Given the description of an element on the screen output the (x, y) to click on. 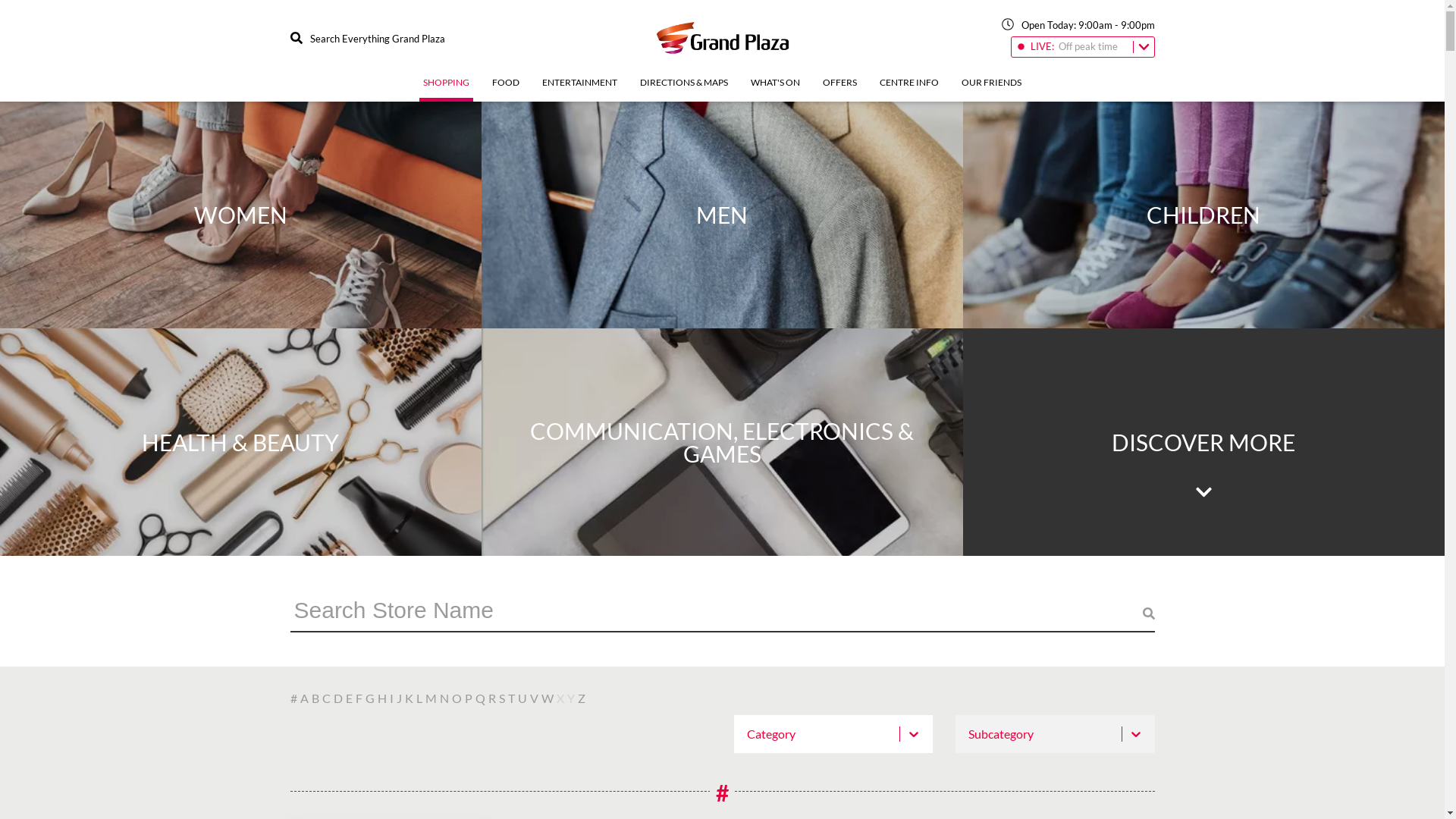
COMMUNICATION, ELECTRONICS & GAMES Element type: text (722, 442)
ENTERTAINMENT Element type: text (579, 88)
FOOD Element type: text (505, 88)
OFFERS Element type: text (839, 88)
CENTRE INFO Element type: text (908, 88)
HEALTH & BEAUTY Element type: text (240, 442)
Open Today: 9:00am - 9:00pm Element type: text (1077, 27)
OUR FRIENDS Element type: text (991, 88)
DIRECTIONS & MAPS Element type: text (683, 88)
WOMEN Element type: text (240, 214)
WHAT'S ON Element type: text (774, 88)
SHOPPING Element type: text (446, 88)
CHILDREN Element type: text (1203, 214)
MEN Element type: text (722, 214)
